Given the description of an element on the screen output the (x, y) to click on. 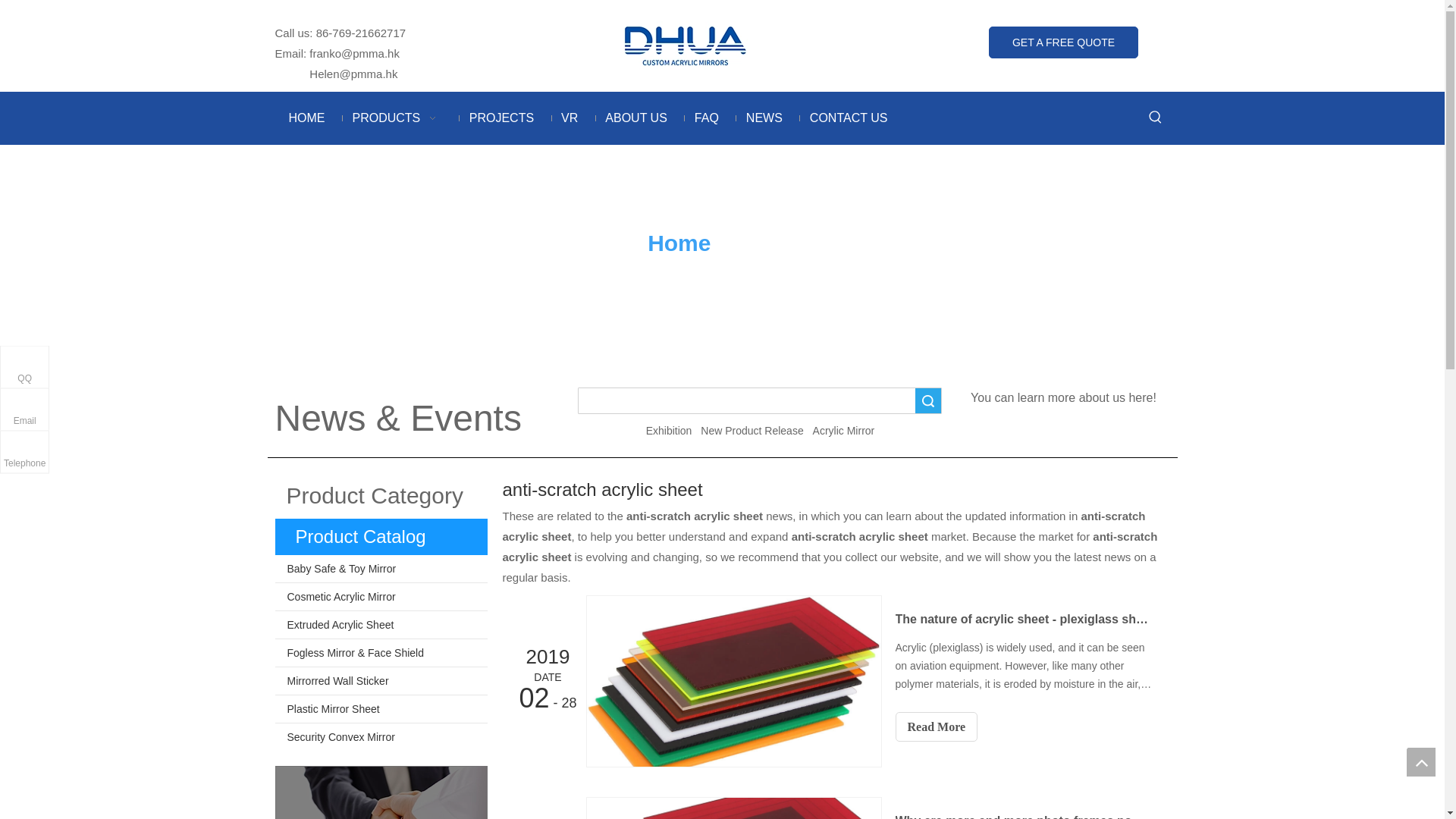
FAQ (706, 118)
Cosmetic Acrylic Mirror (380, 596)
CONTACT US (848, 118)
NEWS (764, 118)
Extruded Acrylic Sheet (380, 624)
ABOUT US (636, 118)
PROJECTS (501, 118)
PRODUCTS   (395, 118)
VR (569, 118)
GET A FREE QUOTE (1063, 42)
